Given the description of an element on the screen output the (x, y) to click on. 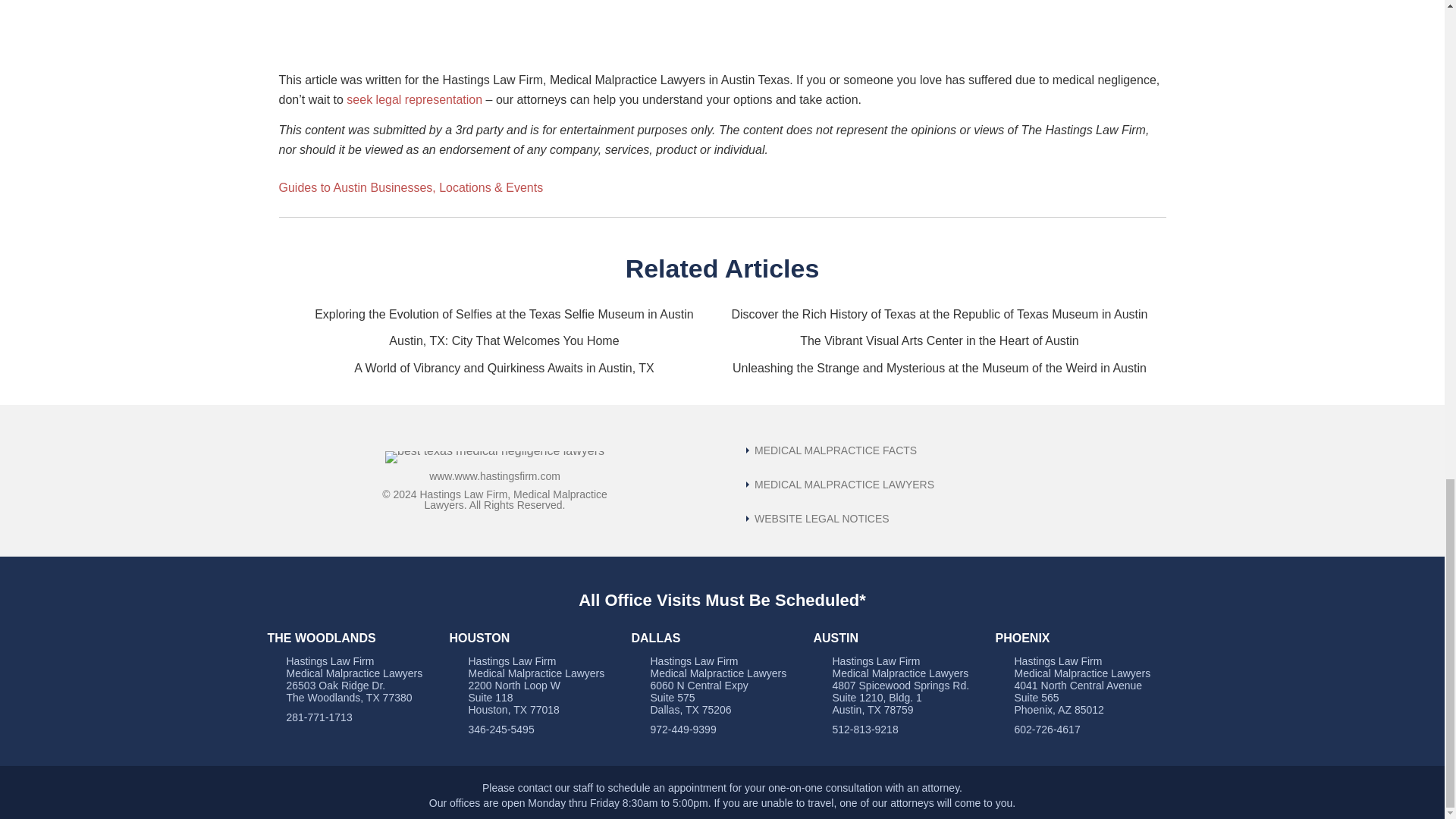
A World of Vibrancy and Quirkiness Awaits in Austin, TX (503, 367)
281-771-1713 (319, 717)
Austin, TX: City That Welcomes You Home (503, 340)
972-449-9399 (683, 729)
MEDICAL MALPRACTICE LAWYERS (839, 484)
seek legal representation (413, 99)
512-813-9218 (865, 729)
346-245-5495 (501, 729)
Texas Medical Malpractice Occurrences (831, 450)
The Vibrant Visual Arts Center in the Heart of Austin (938, 340)
